Given the description of an element on the screen output the (x, y) to click on. 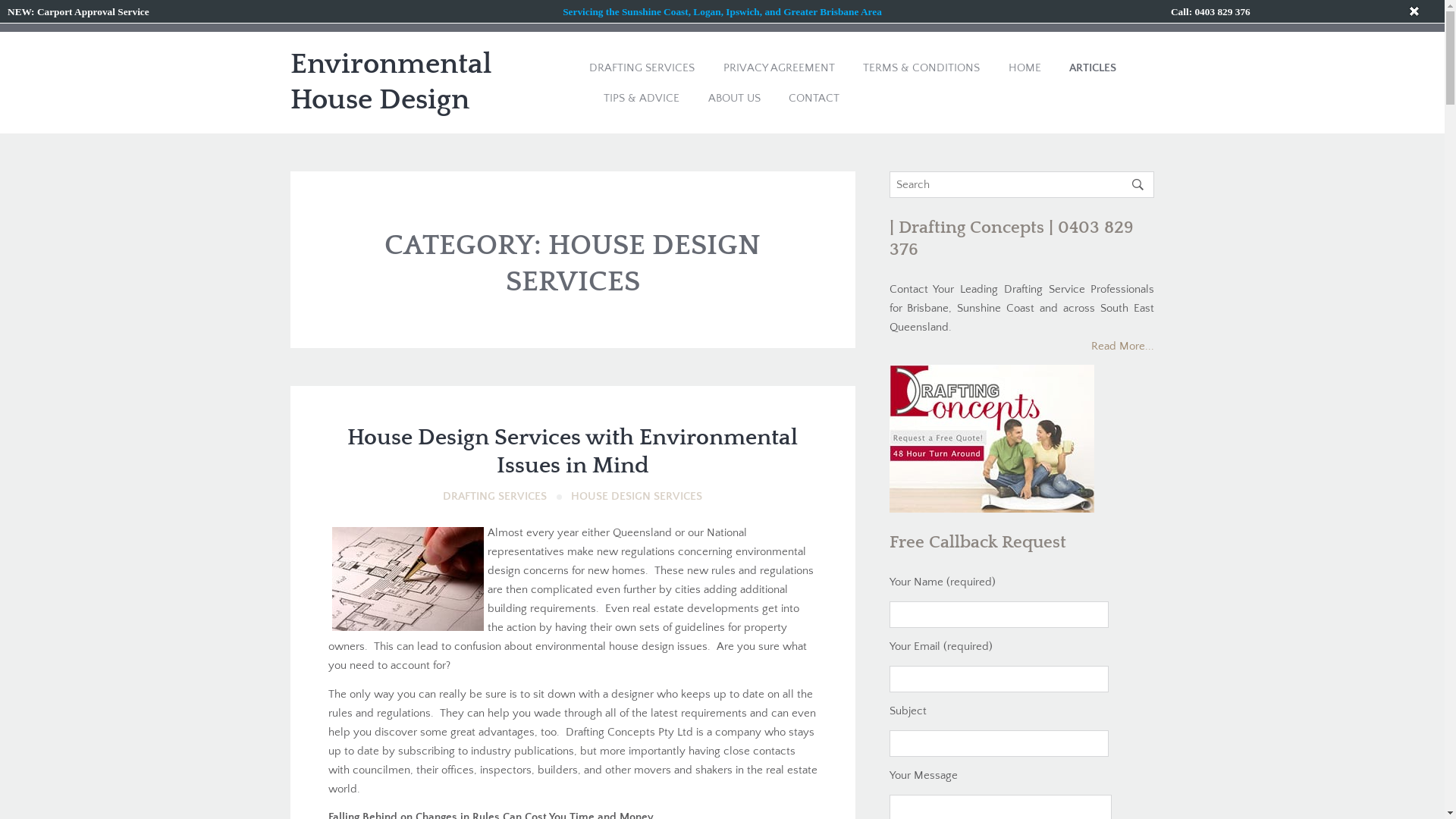
HOME Element type: text (1024, 67)
ARTICLES Element type: text (1092, 67)
Environmental House Design Element type: text (389, 82)
drafting services free quote Element type: hover (990, 502)
CONTACT Element type: text (813, 97)
Call: 0403 829 376 Element type: text (1210, 11)
276892_226738194015255_2110194_n Element type: hover (407, 578)
Read More... Element type: text (1122, 345)
House Design Services with Environmental Issues in Mind Element type: text (572, 452)
TERMS & CONDITIONS Element type: text (920, 67)
NEW: Carport Approval Service Element type: text (78, 11)
DRAFTING SERVICES Element type: text (641, 67)
ABOUT US Element type: text (734, 97)
DRAFTING SERVICES Element type: text (494, 495)
PRIVACY AGREEMENT Element type: text (778, 67)
TIPS & ADVICE Element type: text (641, 97)
HOUSE DESIGN SERVICES Element type: text (636, 495)
Get Your Free Drafting Services Quote in Under 48 Hours! Element type: text (722, 11)
Search for: Element type: hover (1021, 184)
